Given the description of an element on the screen output the (x, y) to click on. 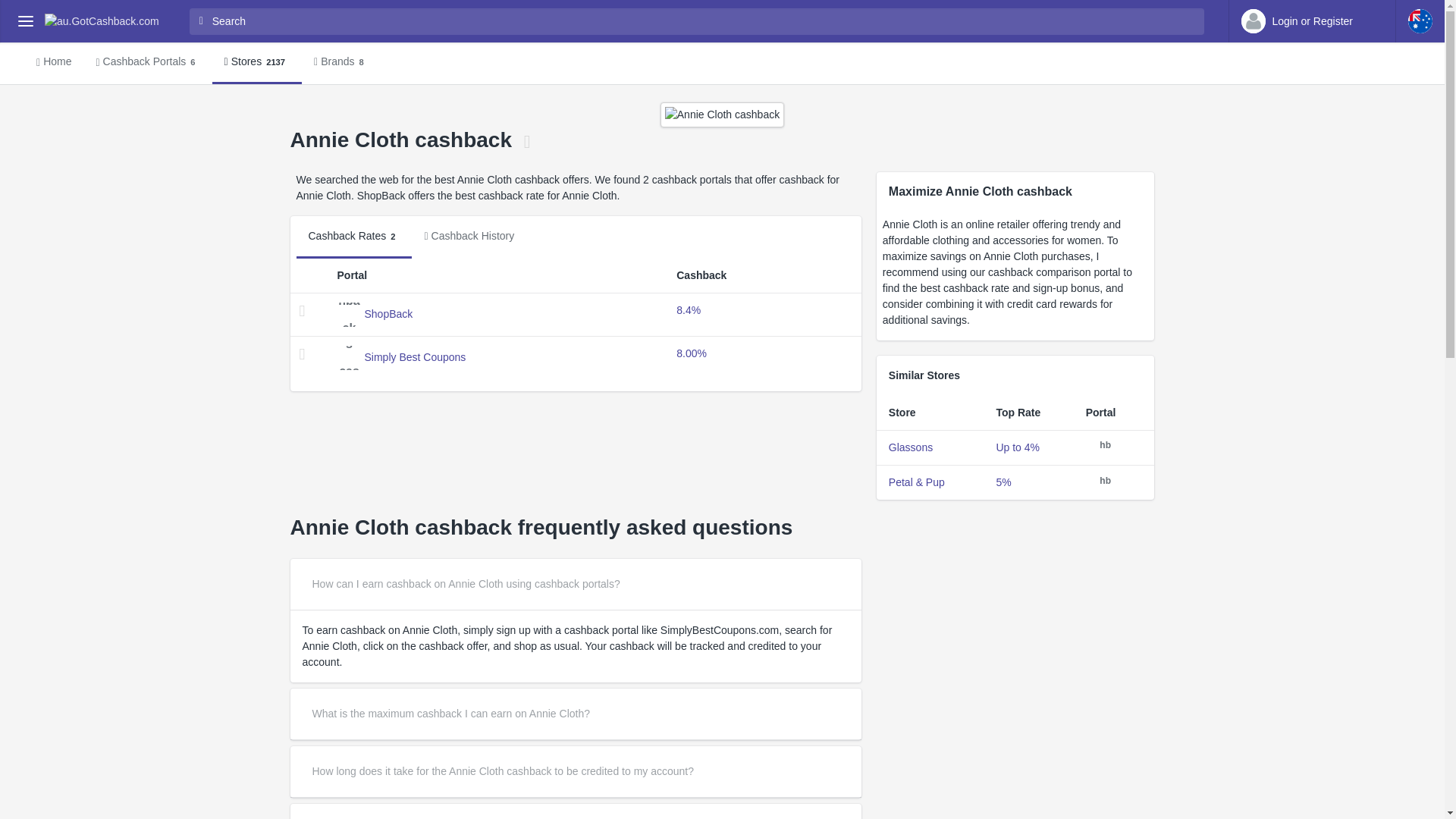
Login or Register (1311, 21)
Home (53, 62)
Brands8 (340, 62)
ShopBack (388, 313)
Cashback Portals6 (146, 62)
Cashback History (722, 63)
Stores2137 (468, 237)
Glassons Cashback (256, 62)
Cashback Rates2 (910, 447)
